Given the description of an element on the screen output the (x, y) to click on. 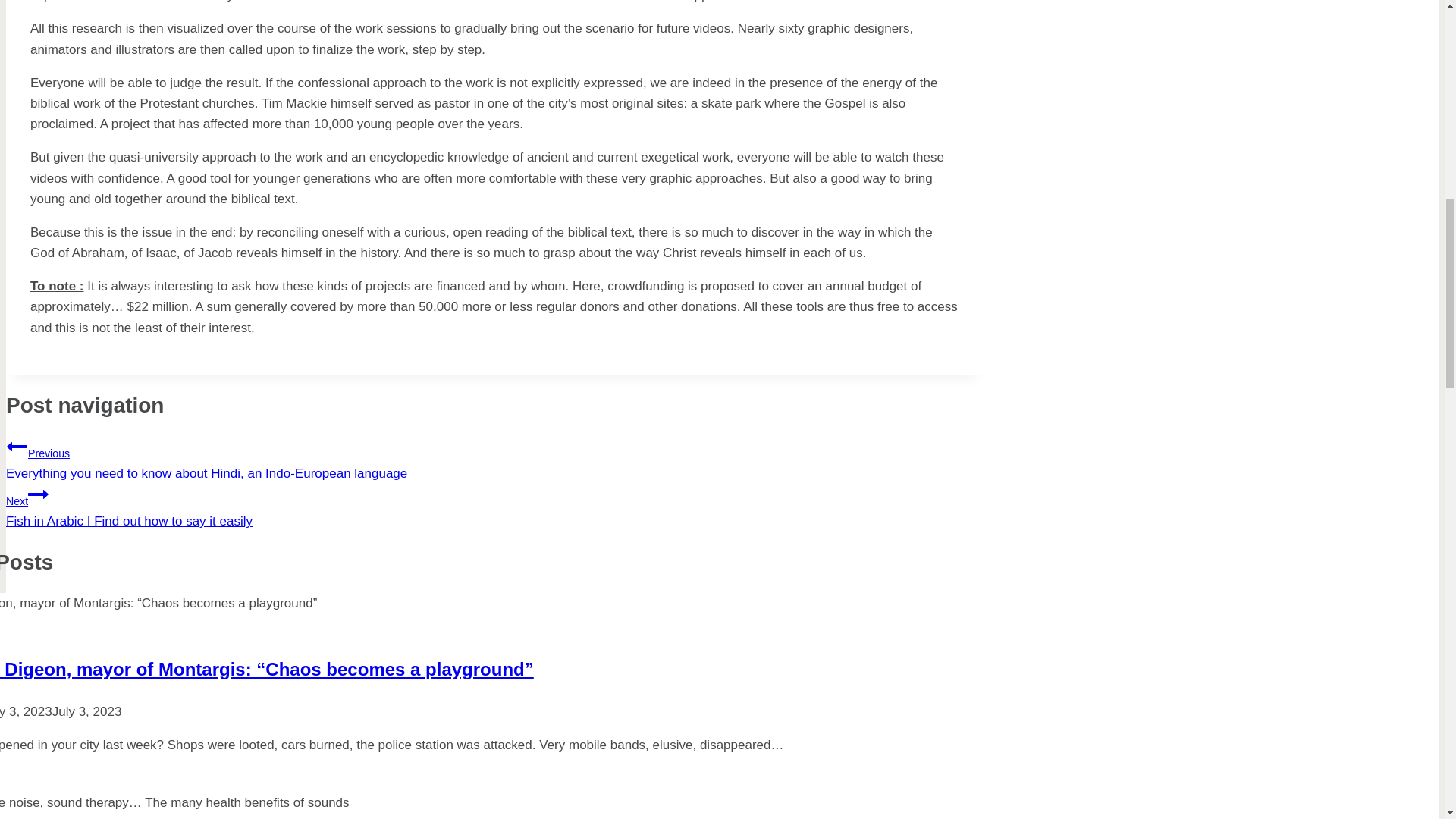
Previous (16, 446)
Continue (494, 506)
